Given the description of an element on the screen output the (x, y) to click on. 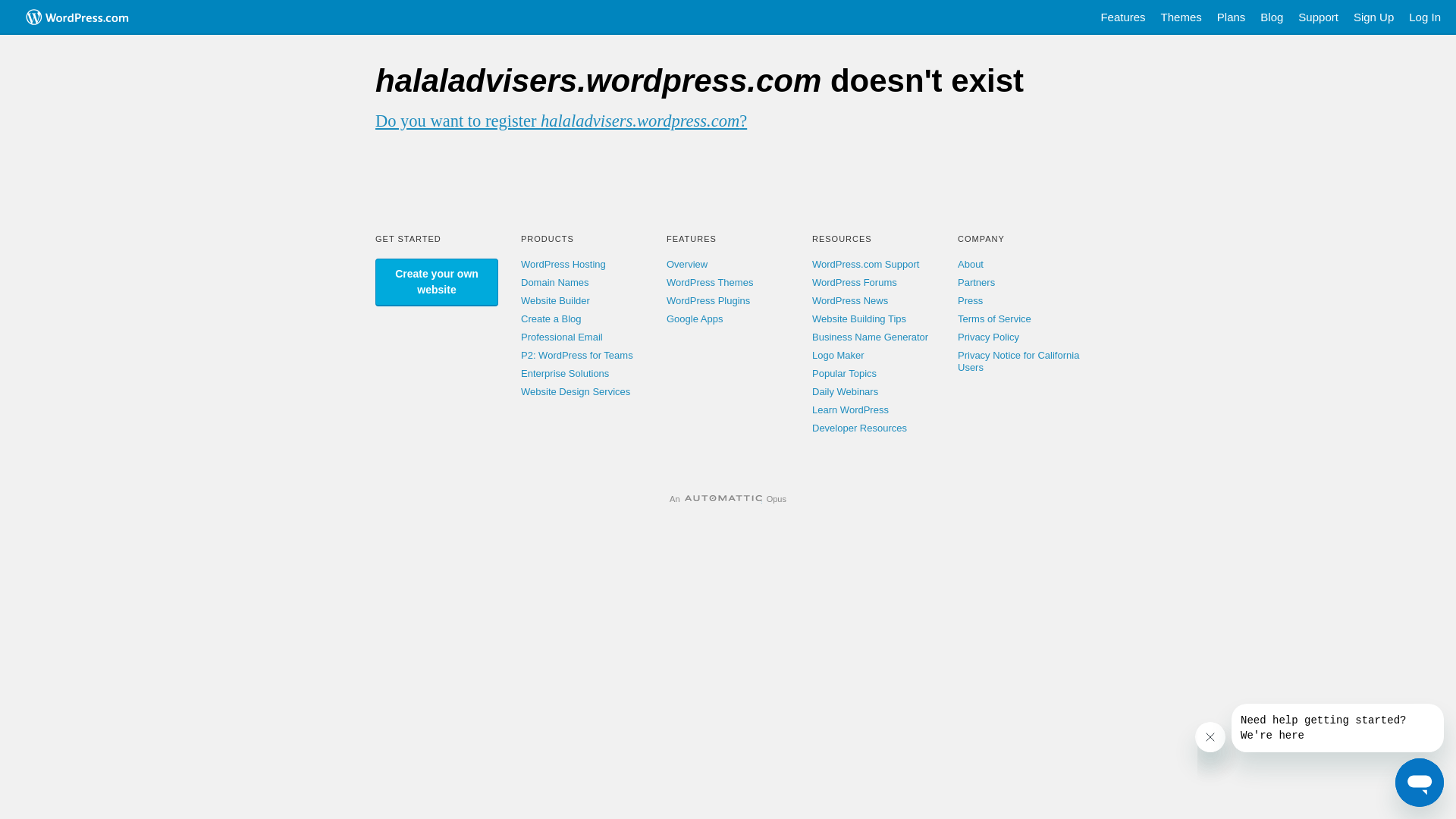
Enterprise Solutions Element type: text (564, 373)
Privacy Policy Element type: text (988, 336)
Features Element type: text (1122, 17)
Website Builder Element type: text (554, 300)
Learn WordPress Element type: text (850, 409)
Website Building Tips Element type: text (859, 318)
Message from company Element type: hover (1337, 727)
Popular Topics Element type: text (844, 373)
P2: WordPress for Teams Element type: text (576, 354)
WordPress News Element type: text (850, 300)
Close message Element type: hover (1210, 736)
Sign Up Element type: text (1373, 17)
Log In Element type: text (1424, 17)
Automattic Element type: text (723, 498)
Daily Webinars Element type: text (845, 391)
Google Apps Element type: text (694, 318)
Partners Element type: text (975, 282)
Professional Email Element type: text (561, 336)
Developer Resources Element type: text (859, 427)
Create a Blog Element type: text (550, 318)
WordPress Themes Element type: text (709, 282)
Support Element type: text (1318, 17)
Themes Element type: text (1181, 17)
WordPress Hosting Element type: text (562, 263)
WordPress Plugins Element type: text (707, 300)
Domain Names Element type: text (554, 282)
Do you want to register halaladvisers.wordpress.com? Element type: text (560, 120)
Terms of Service Element type: text (994, 318)
Logo Maker Element type: text (838, 354)
Blog Element type: text (1271, 17)
Create your own website Element type: text (436, 282)
WordPress Forums Element type: text (854, 282)
Plans Element type: text (1231, 17)
Privacy Notice for California Users Element type: text (1018, 361)
About Element type: text (970, 263)
WordPress.com Support Element type: text (865, 263)
Press Element type: text (969, 300)
Business Name Generator Element type: text (870, 336)
Website Design Services Element type: text (575, 391)
Button to launch messaging window Element type: hover (1419, 782)
Overview Element type: text (686, 263)
